Given the description of an element on the screen output the (x, y) to click on. 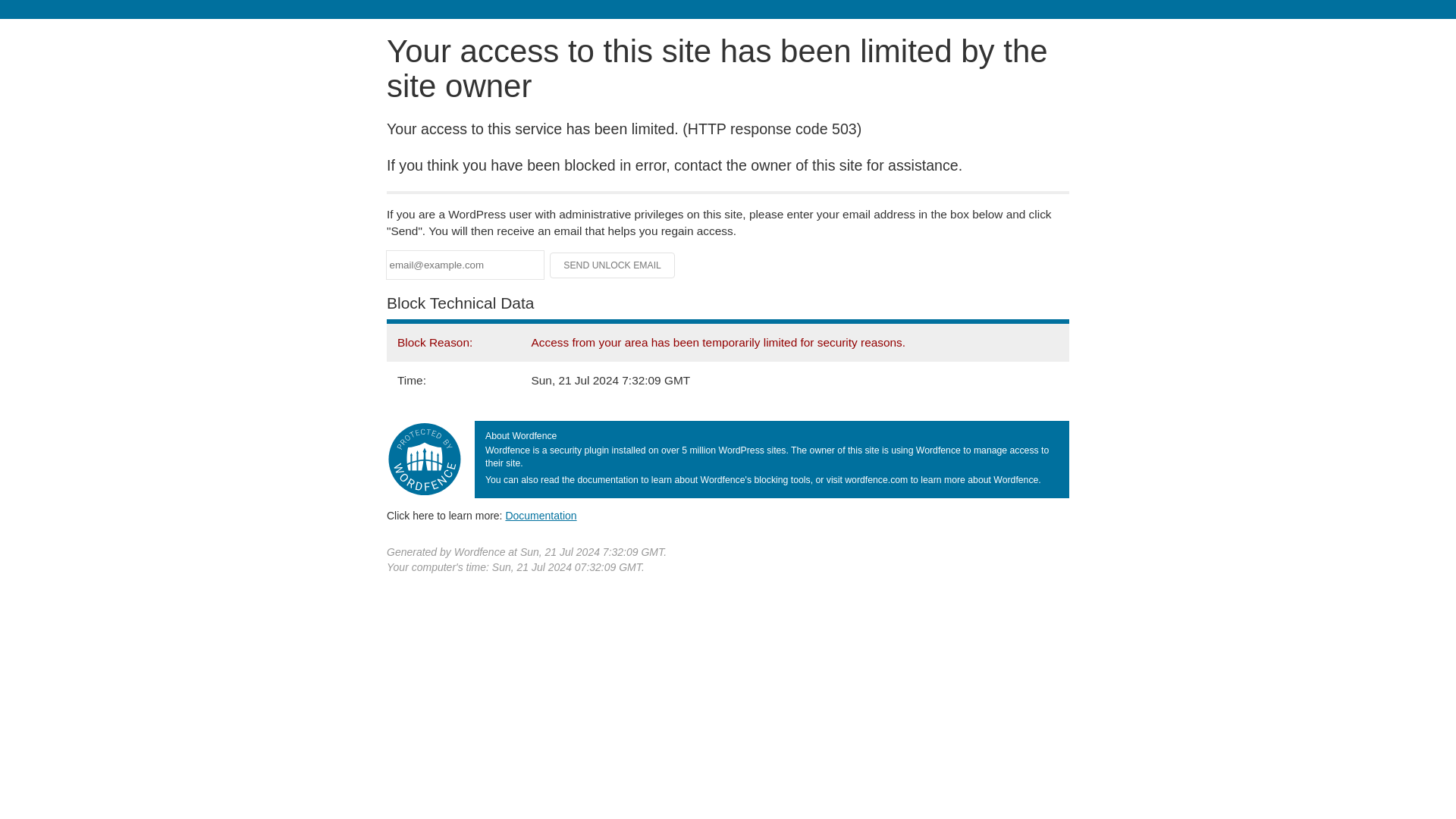
Send Unlock Email (612, 265)
Documentation (540, 515)
Send Unlock Email (612, 265)
